Given the description of an element on the screen output the (x, y) to click on. 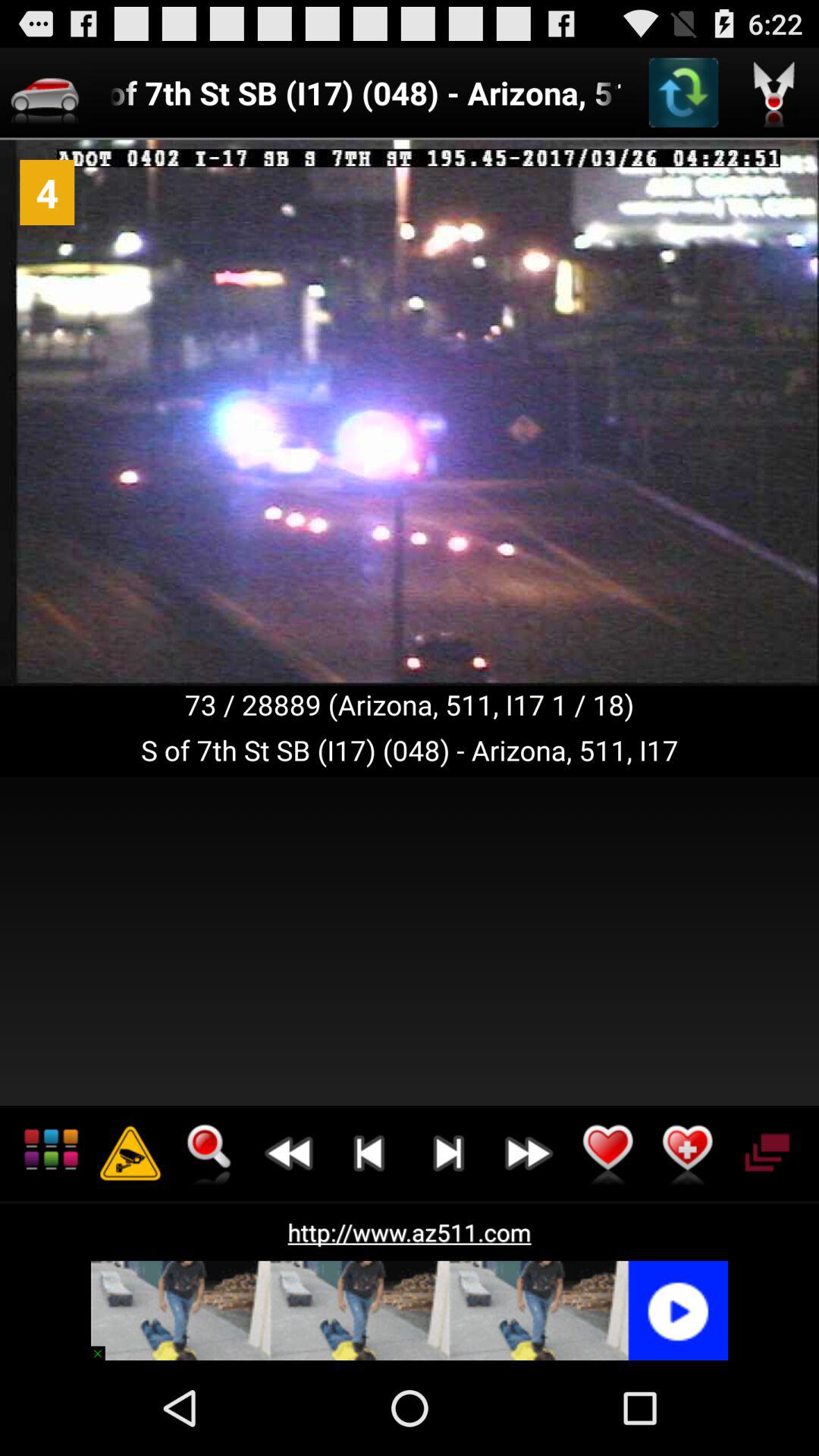
press the icon below the http www az511 (409, 1310)
